Given the description of an element on the screen output the (x, y) to click on. 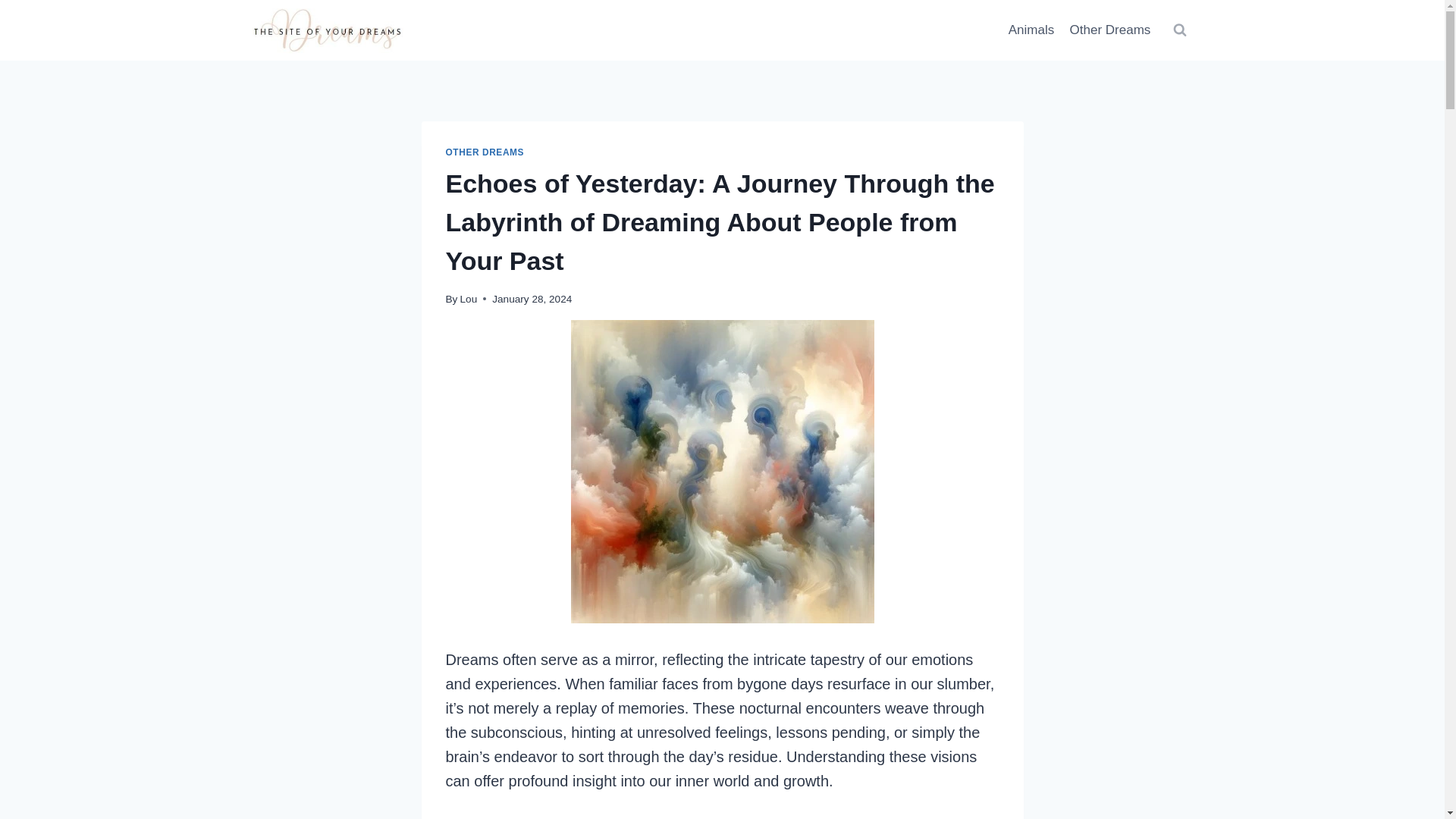
Lou (468, 298)
Other Dreams (1109, 30)
Animals (1031, 30)
OTHER DREAMS (484, 152)
